Given the description of an element on the screen output the (x, y) to click on. 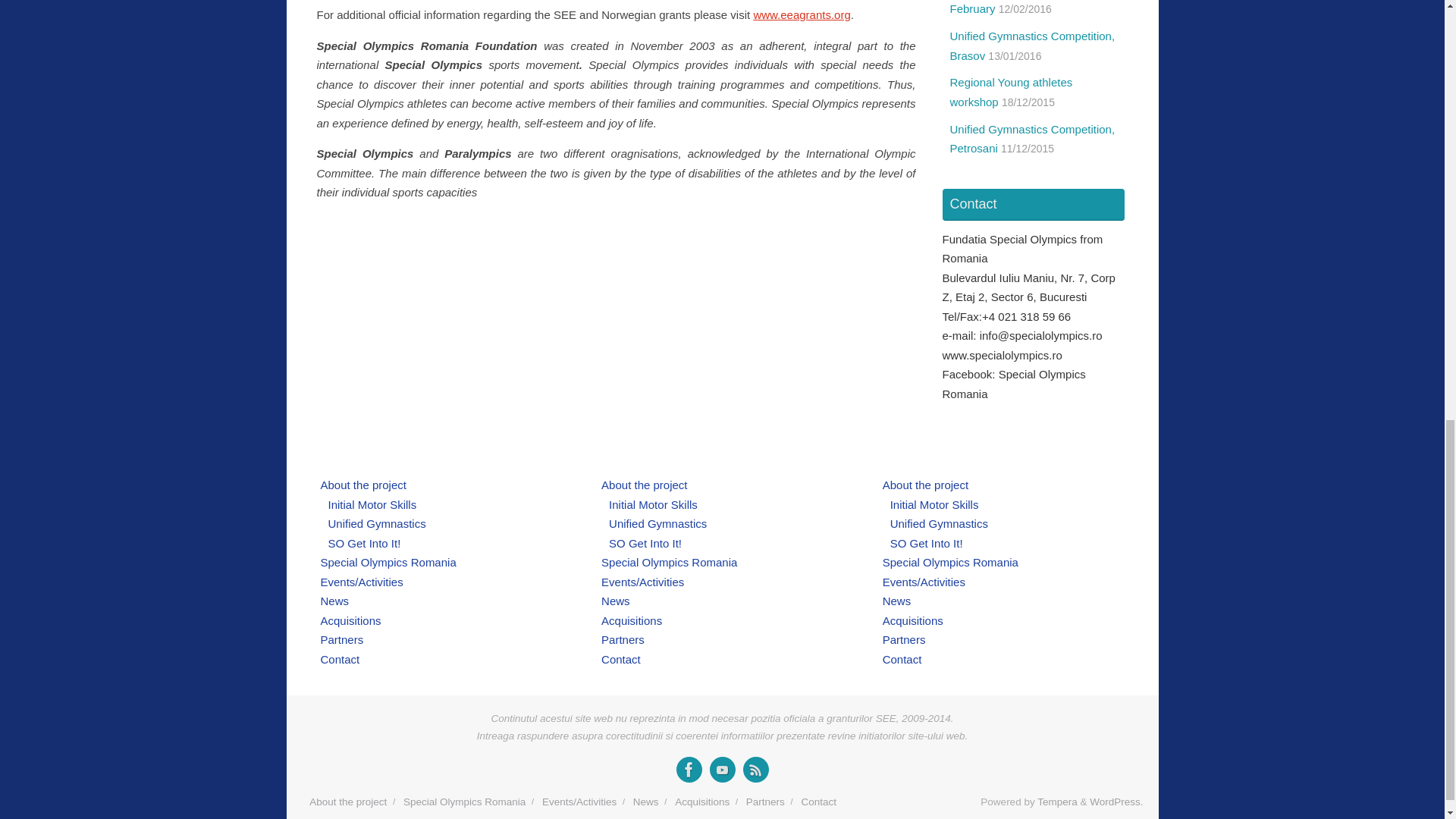
RSS (755, 769)
Initial Motor Skills (652, 503)
Contact (339, 658)
www.eeagrants.org (801, 14)
About the project (644, 484)
Tempera Theme by Cryout Creations (1056, 801)
Unified Gymnastics Competition, Petrosani (1032, 138)
Initial Motor Skills (371, 503)
SO Get Into It! (363, 543)
About the project (363, 484)
